Given the description of an element on the screen output the (x, y) to click on. 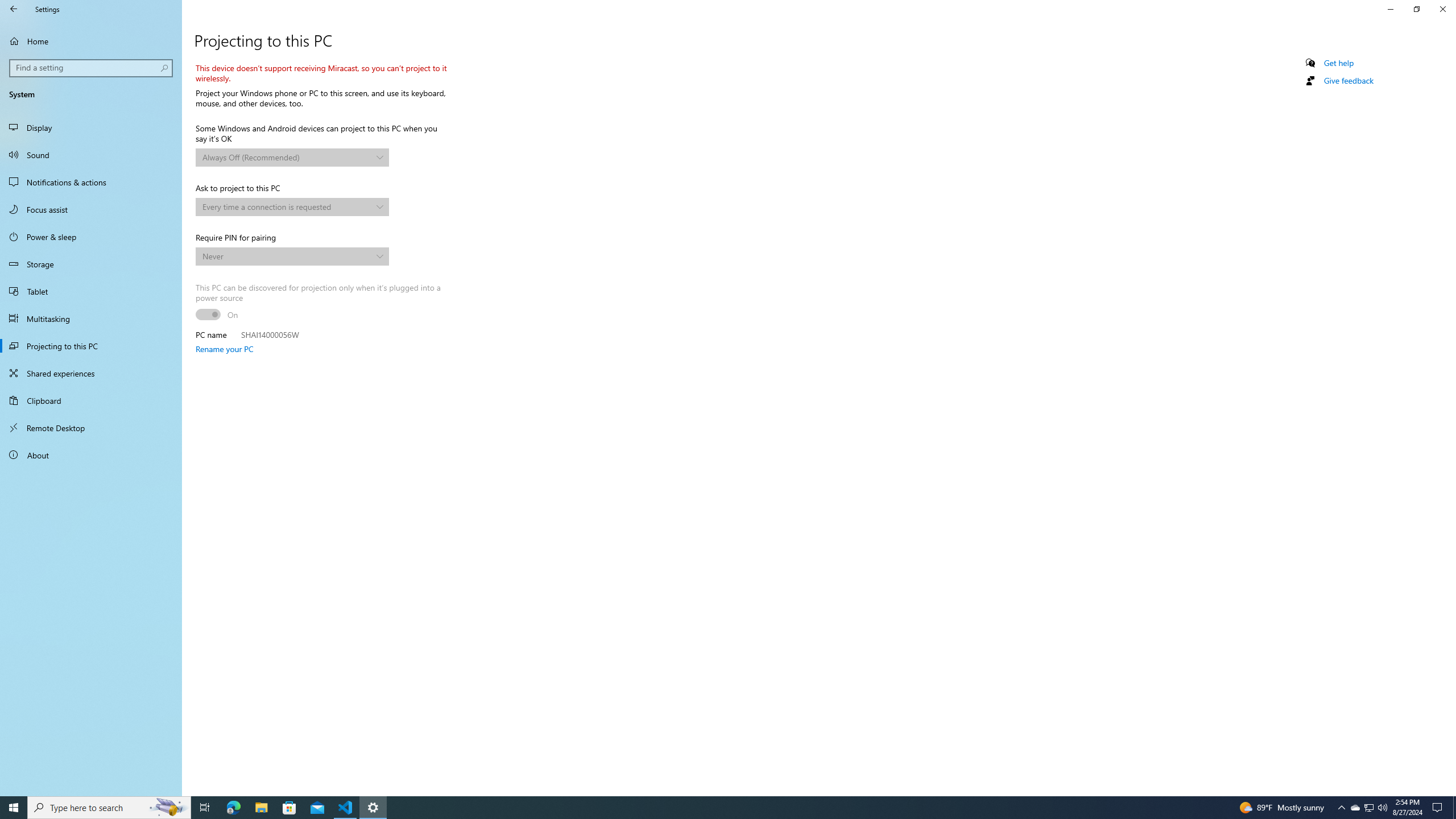
Notifications & actions (91, 181)
Power & sleep (91, 236)
Running applications (717, 807)
Focus assist (91, 208)
Require PIN for pairing (291, 256)
Storage (91, 263)
